Given the description of an element on the screen output the (x, y) to click on. 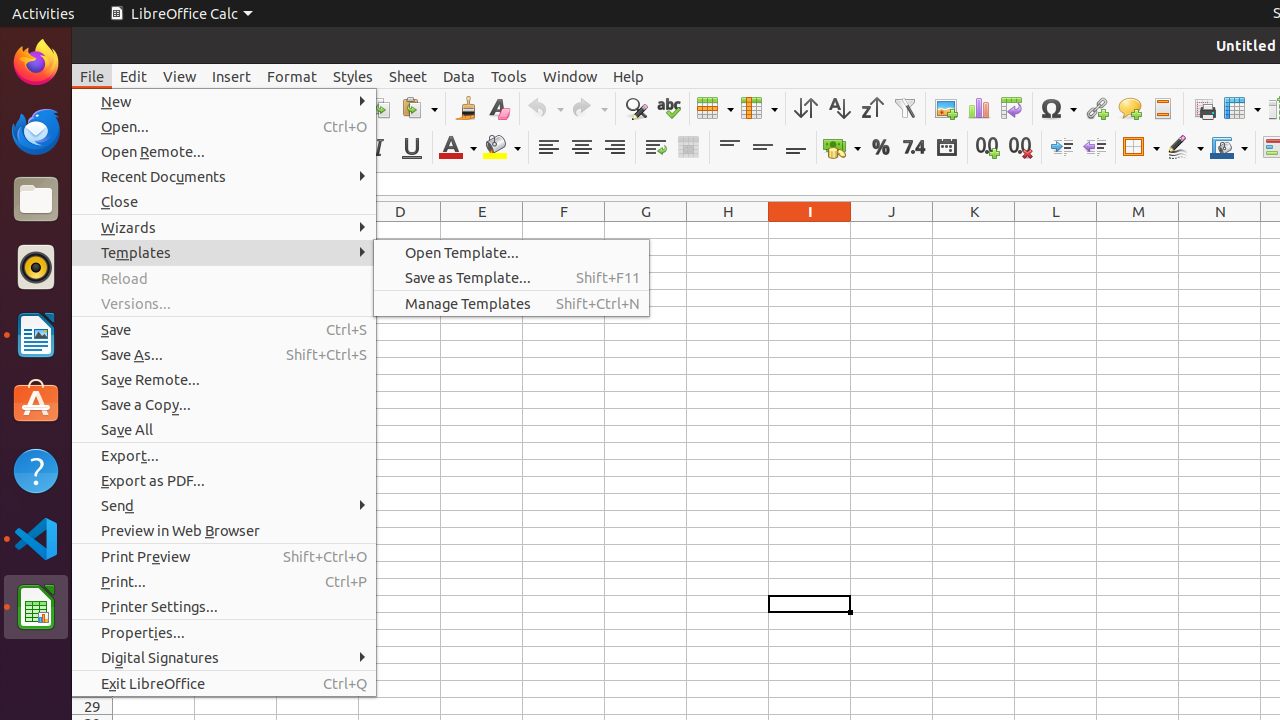
Align Top Element type: push-button (729, 147)
Headers and Footers Element type: push-button (1162, 108)
Borders (Shift to overwrite) Element type: push-button (1141, 147)
Spelling Element type: push-button (668, 108)
Versions... Element type: menu-item (224, 303)
